Given the description of an element on the screen output the (x, y) to click on. 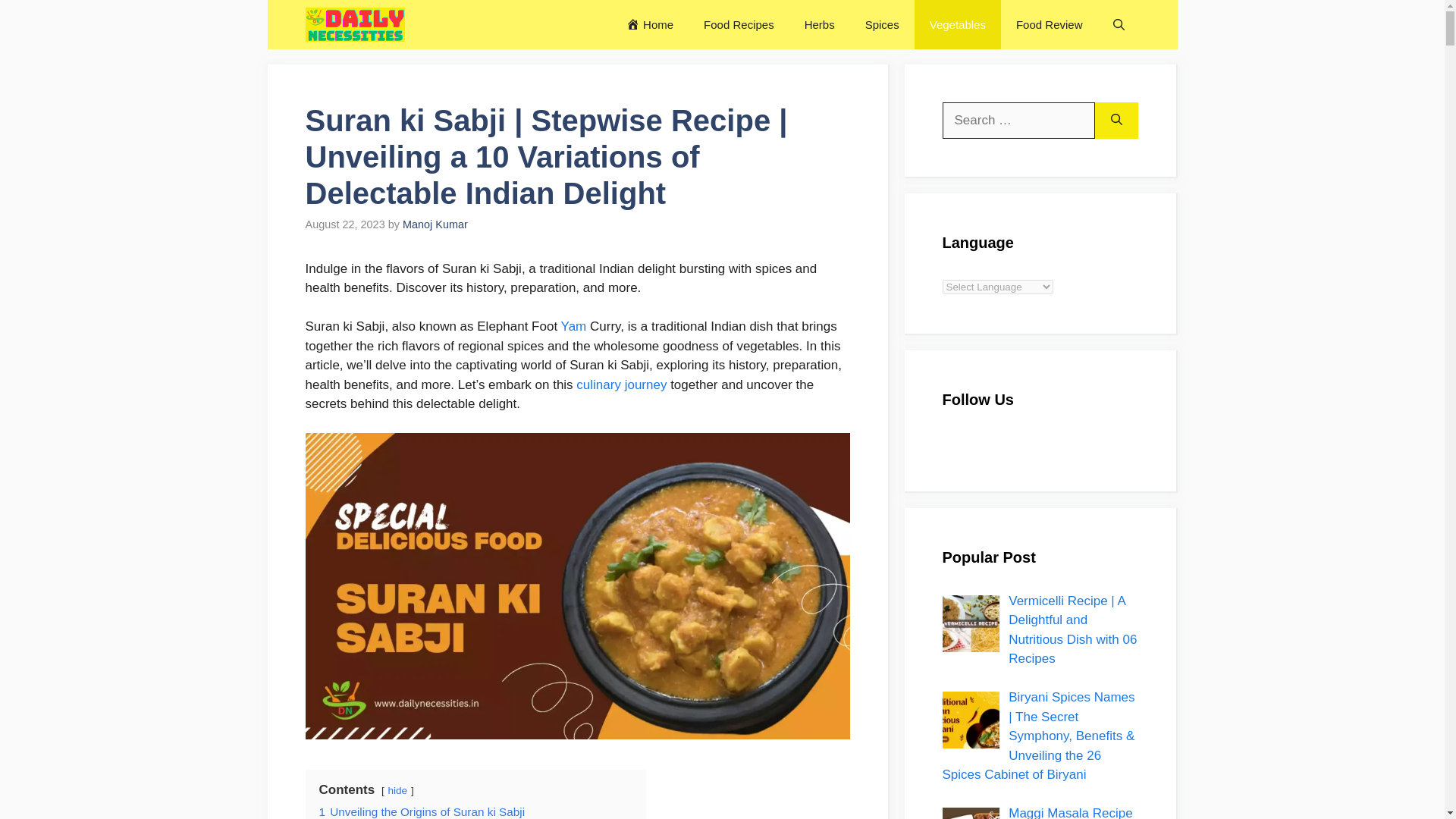
Yam (573, 326)
culinary journey (621, 384)
Vegetables (957, 24)
hide (397, 790)
Food Review (1049, 24)
Spices (882, 24)
1 Unveiling the Origins of Suran ki Sabji (421, 811)
Home (649, 24)
View all posts by Manoj Kumar (435, 224)
